Given the description of an element on the screen output the (x, y) to click on. 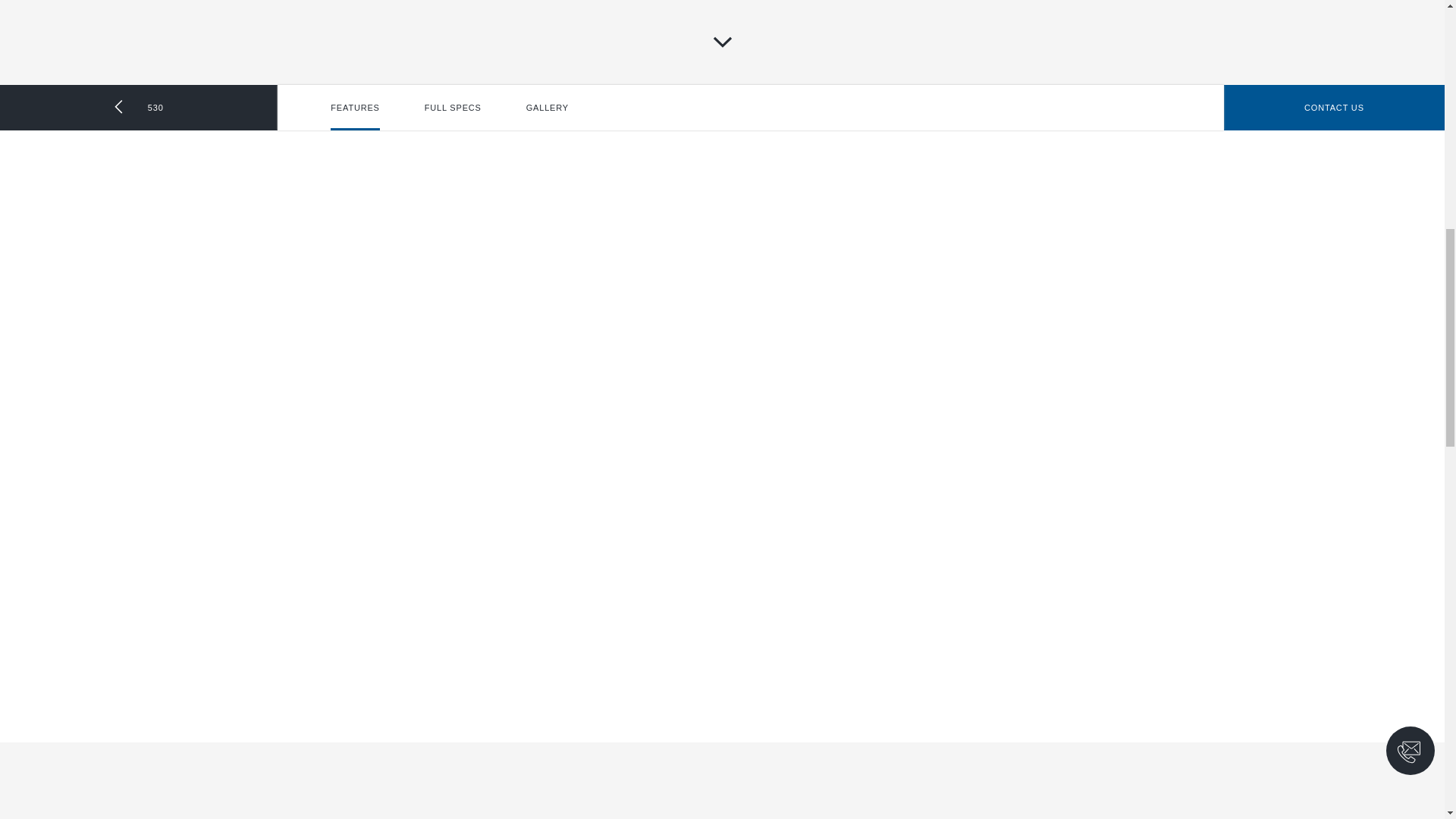
FEATURES (354, 107)
530 (138, 107)
GALLERY (547, 107)
FULL SPECS (453, 107)
